Given the description of an element on the screen output the (x, y) to click on. 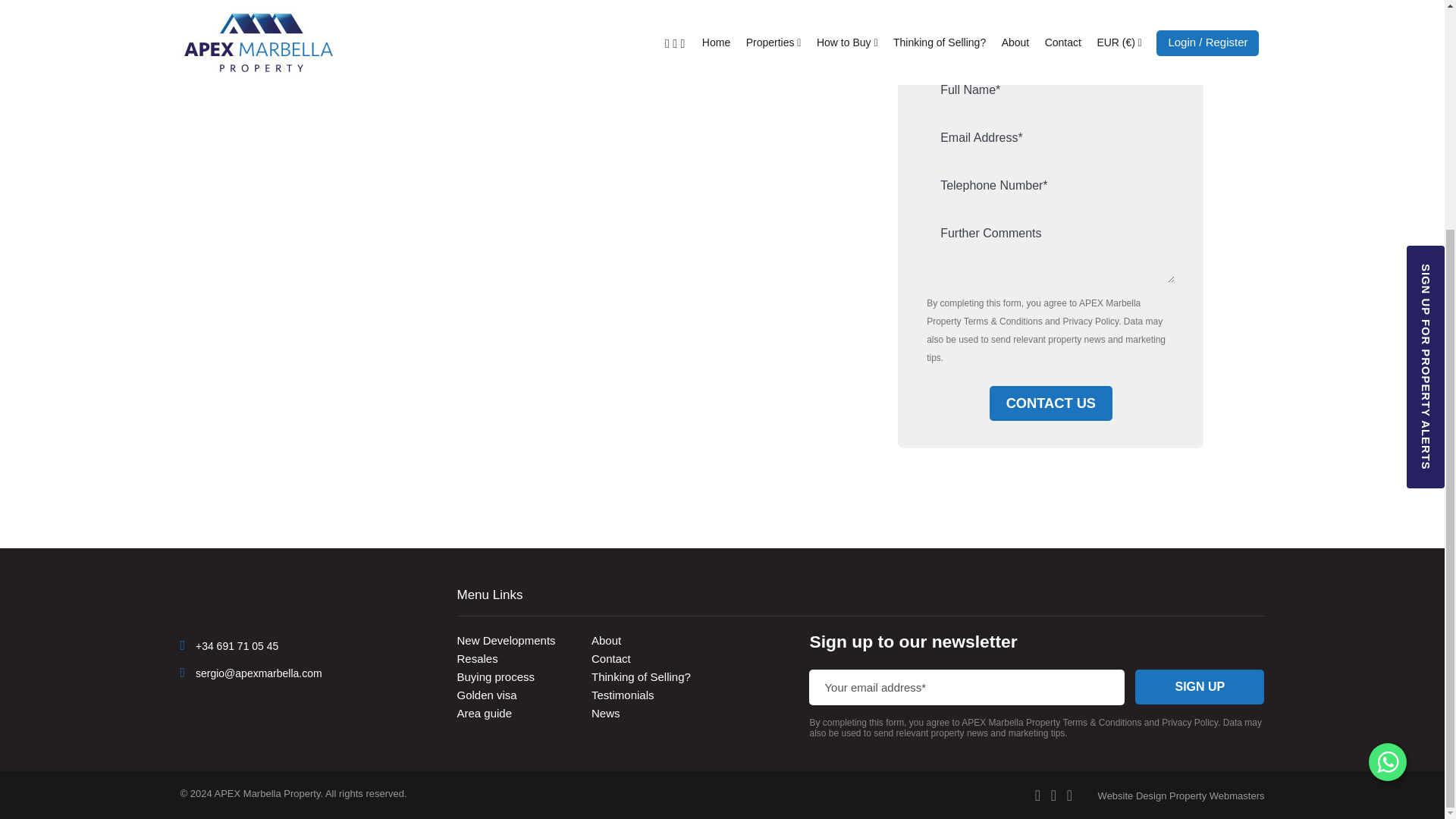
Privacy Policy (1090, 321)
CONTACT US (1051, 402)
Property Webmasters (1132, 795)
